Given the description of an element on the screen output the (x, y) to click on. 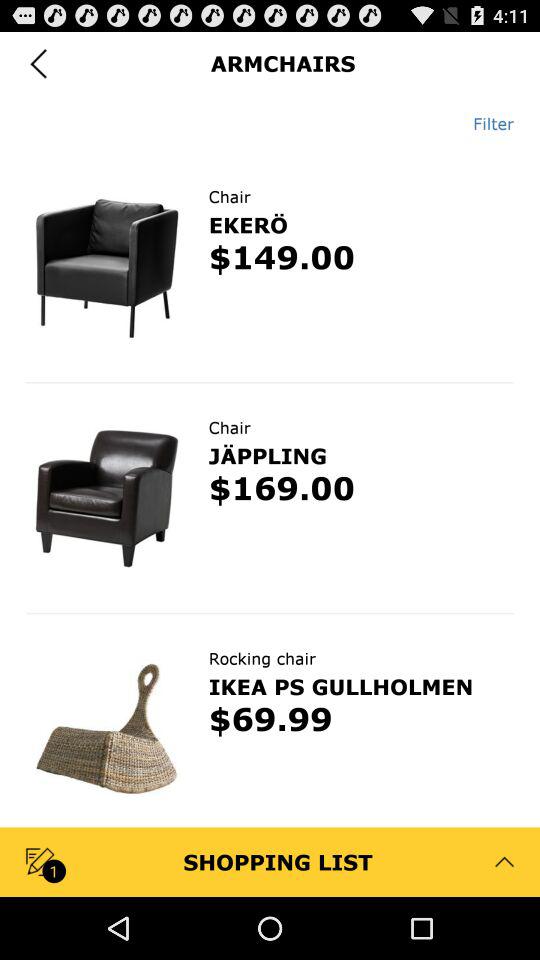
turn off the item at the top right corner (486, 123)
